Given the description of an element on the screen output the (x, y) to click on. 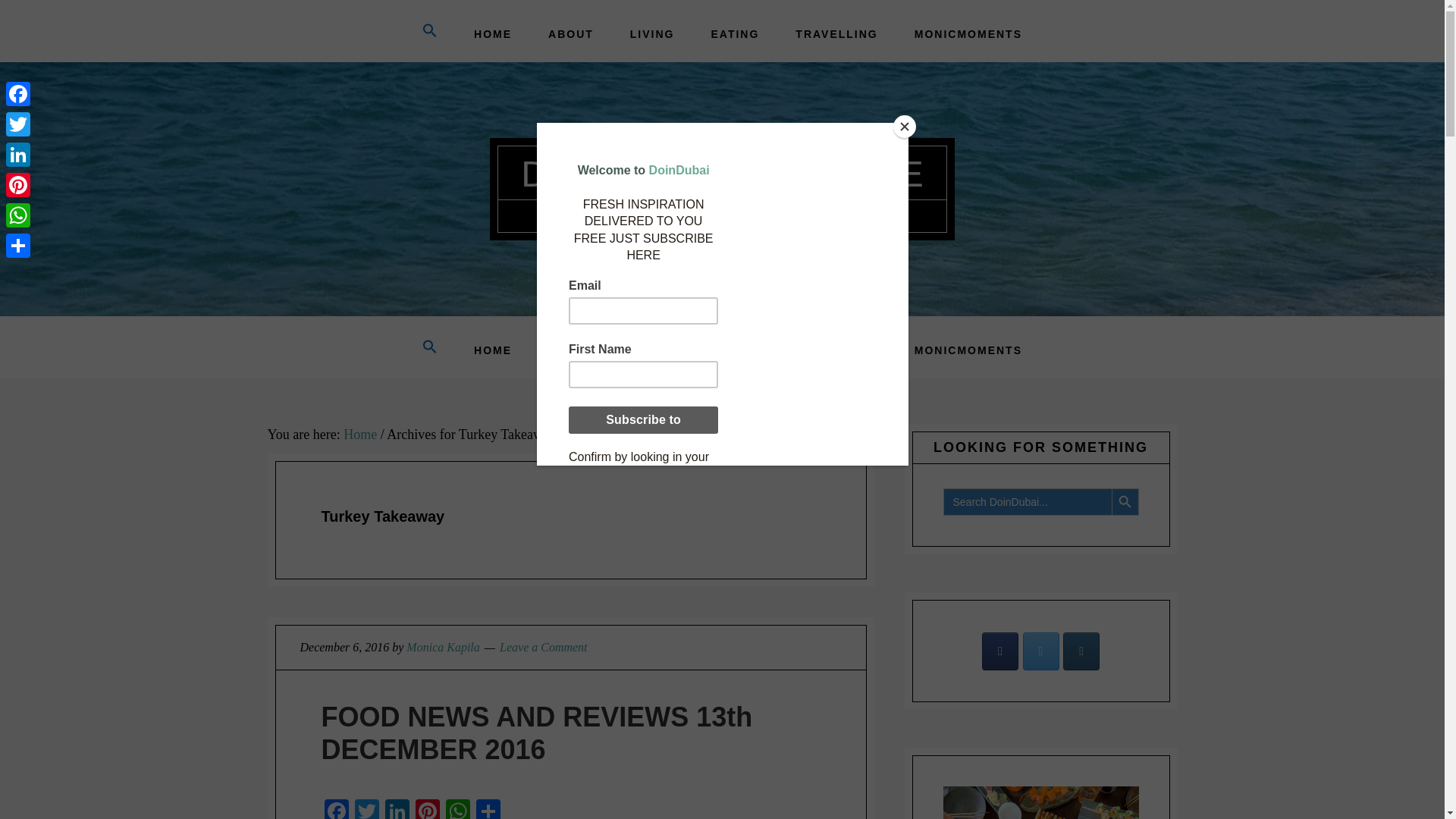
Facebook (336, 809)
Pinterest (427, 809)
HOME (492, 33)
WhatsApp (457, 809)
LIVING (652, 33)
Twitter (366, 809)
LinkedIn (396, 809)
EATING (735, 33)
ABOUT (570, 33)
